Given the description of an element on the screen output the (x, y) to click on. 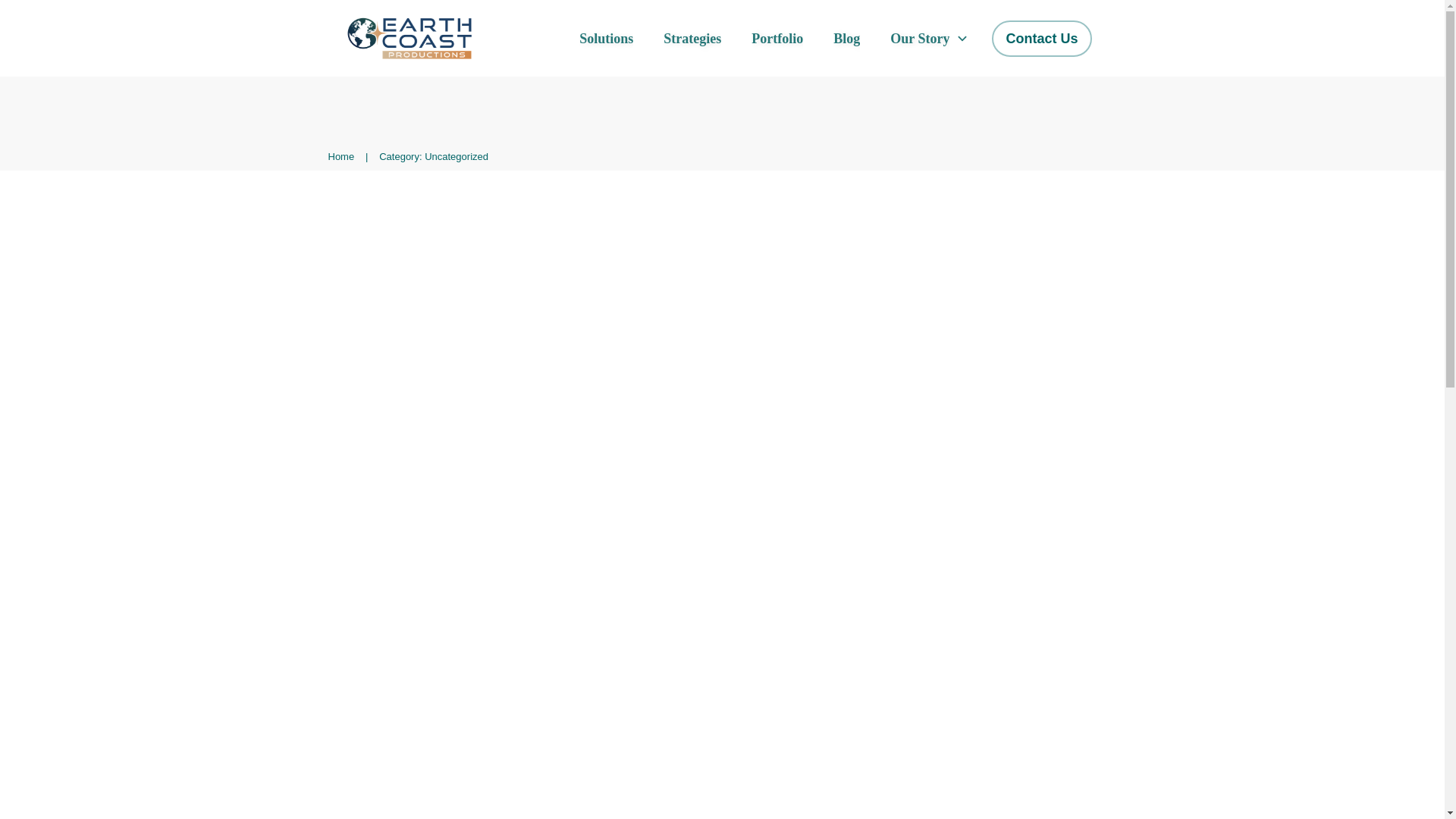
Blog (846, 38)
Solutions (606, 38)
Our Story (929, 38)
Home (340, 156)
Strategies (691, 38)
Contact Us (1041, 38)
Portfolio (777, 38)
